Given the description of an element on the screen output the (x, y) to click on. 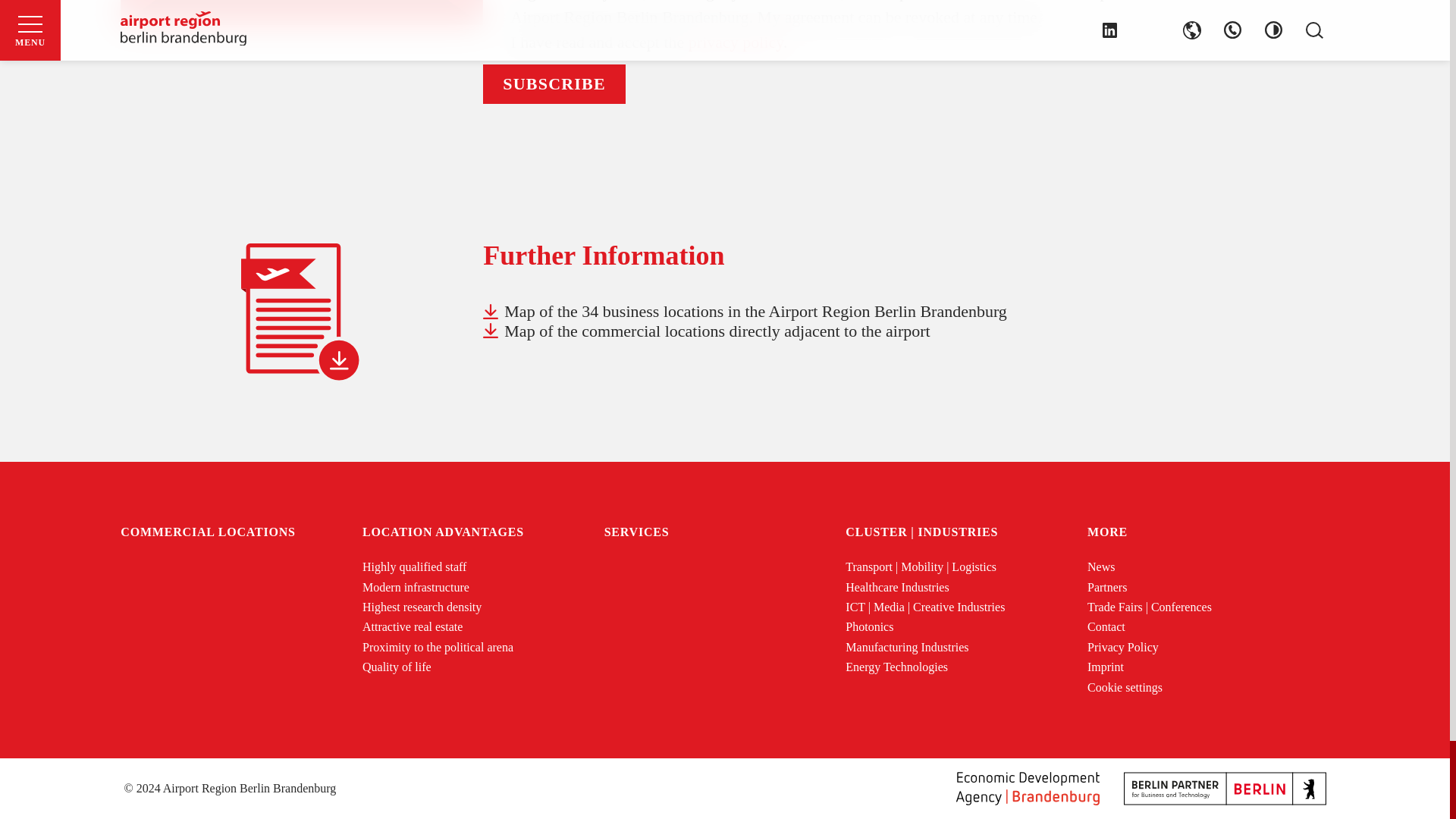
Subscribe (554, 84)
